Given the description of an element on the screen output the (x, y) to click on. 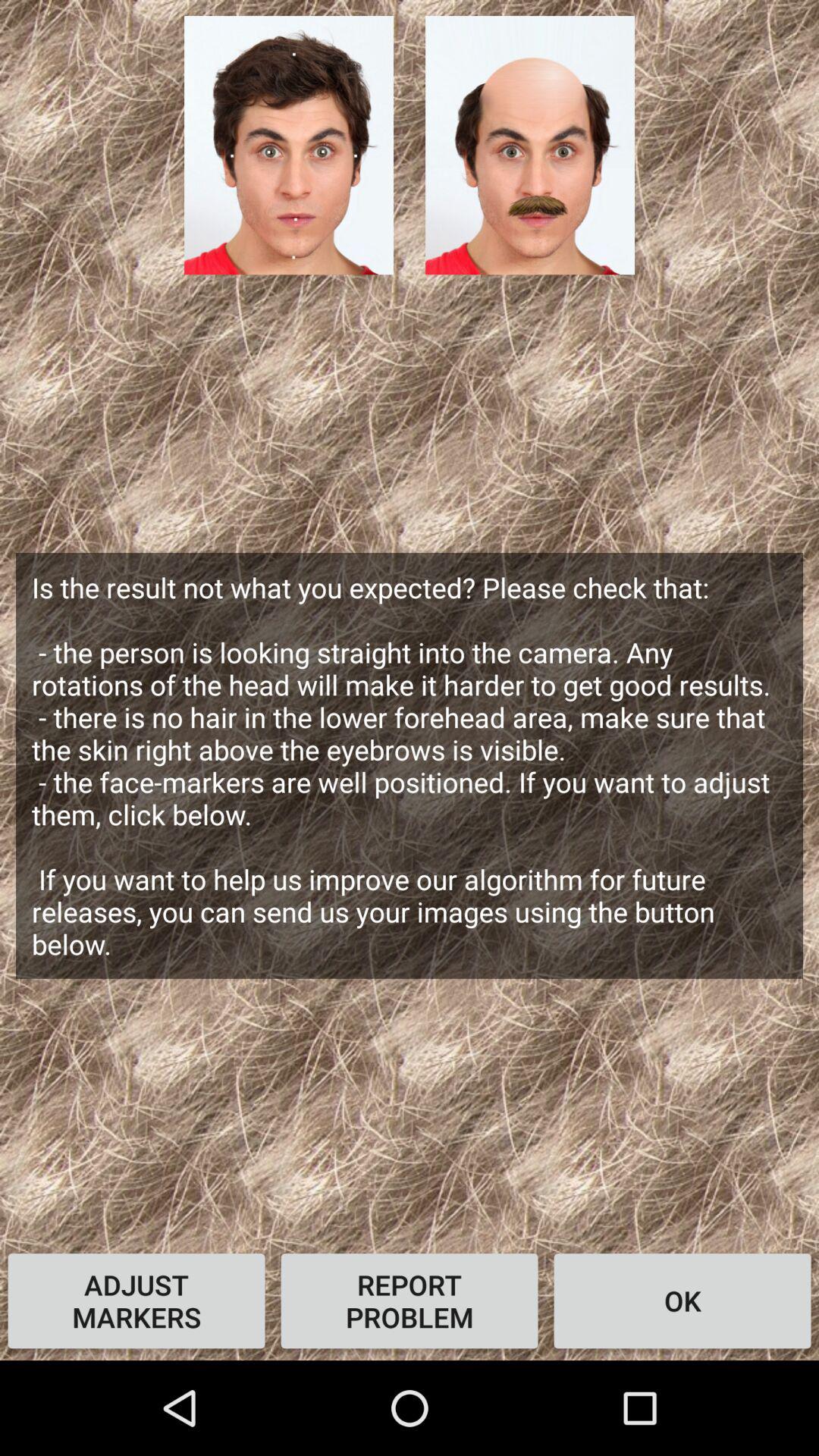
jump until the adjust markers item (136, 1300)
